Given the description of an element on the screen output the (x, y) to click on. 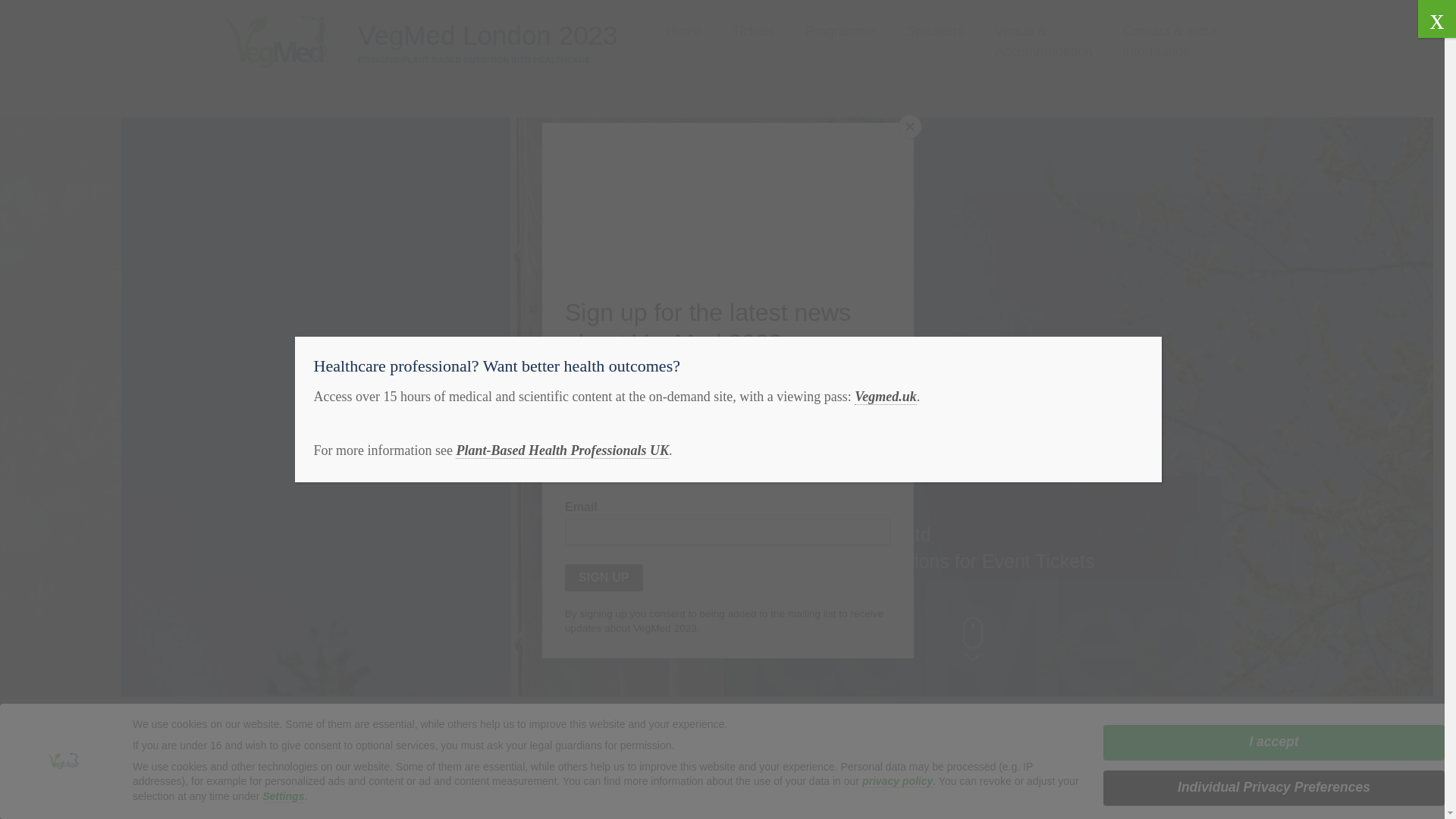
Programme (840, 31)
Tickets (753, 31)
Plant-Based Health Professionals UK (561, 450)
Vegmed.uk (885, 396)
privacy policy (897, 780)
Speakers (935, 31)
Home (683, 31)
